Given the description of an element on the screen output the (x, y) to click on. 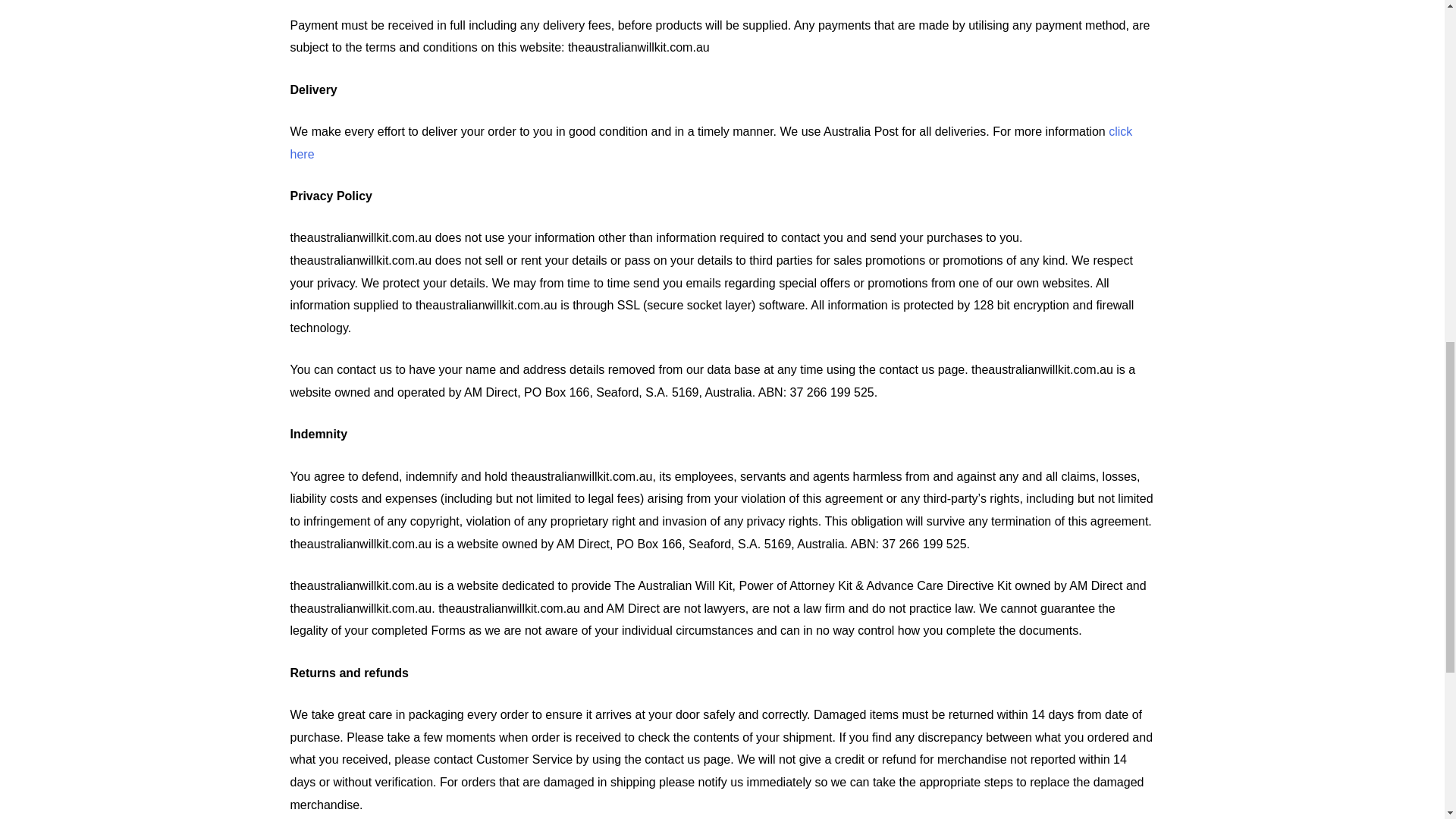
click here (710, 142)
